Given the description of an element on the screen output the (x, y) to click on. 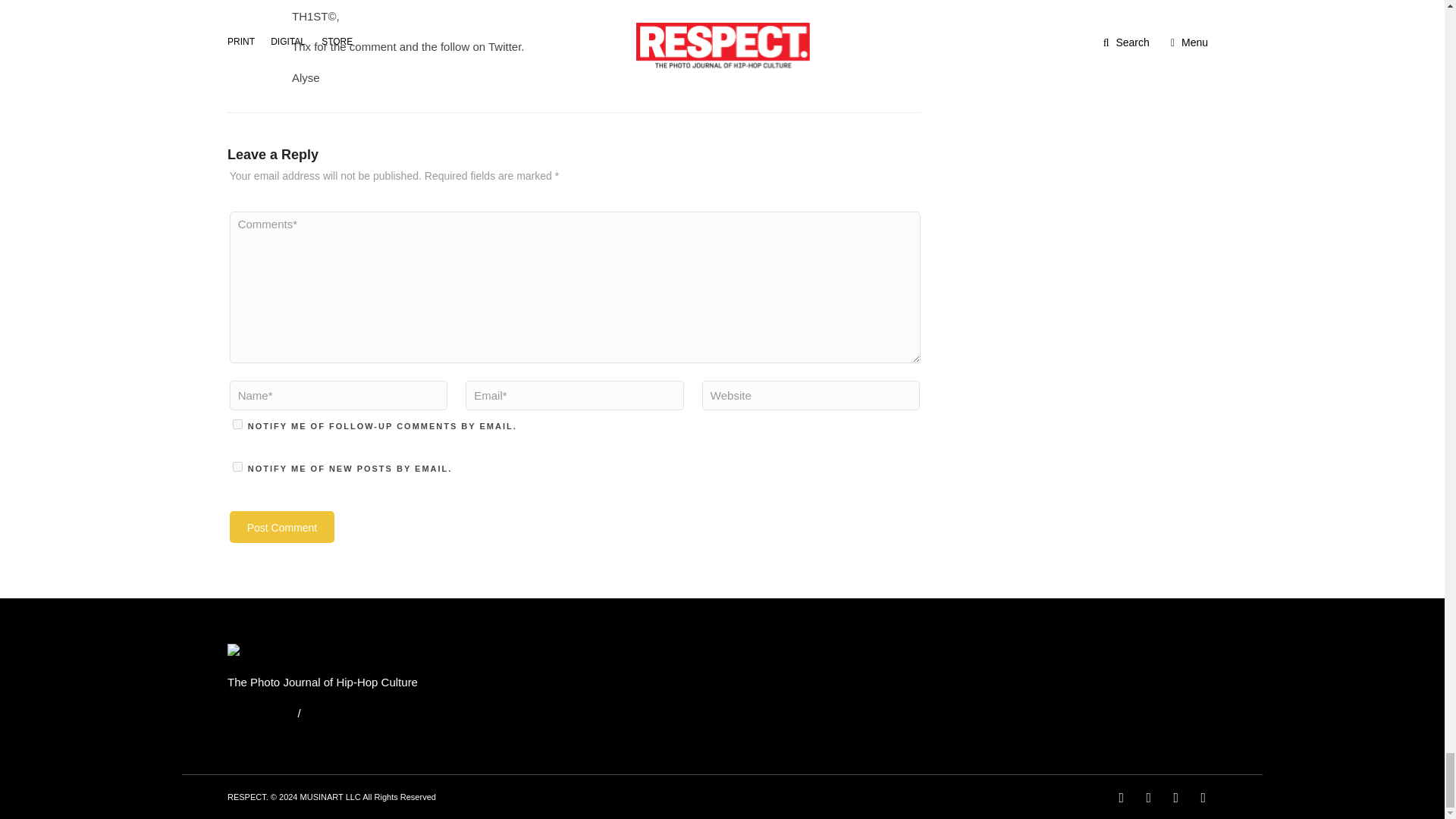
subscribe (237, 424)
Post Comment (282, 526)
subscribe (237, 466)
